Given the description of an element on the screen output the (x, y) to click on. 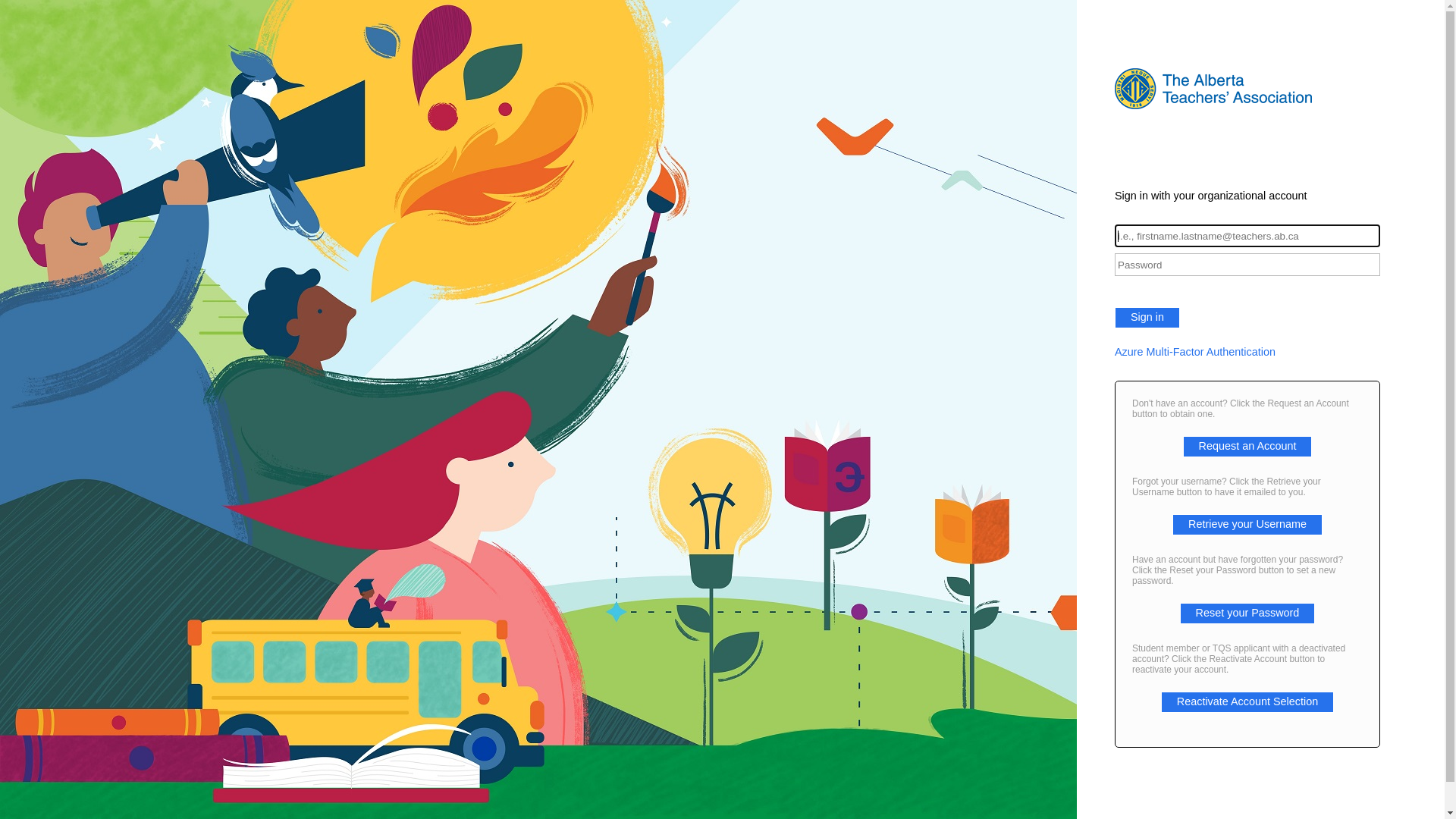
Reactivate Account Selection Element type: text (1247, 701)
Azure Multi-Factor Authentication Element type: text (1247, 351)
Request an Account Element type: text (1247, 445)
Retrieve your Username Element type: text (1247, 523)
Sign in Element type: text (1146, 317)
Reset your Password Element type: text (1247, 612)
